Given the description of an element on the screen output the (x, y) to click on. 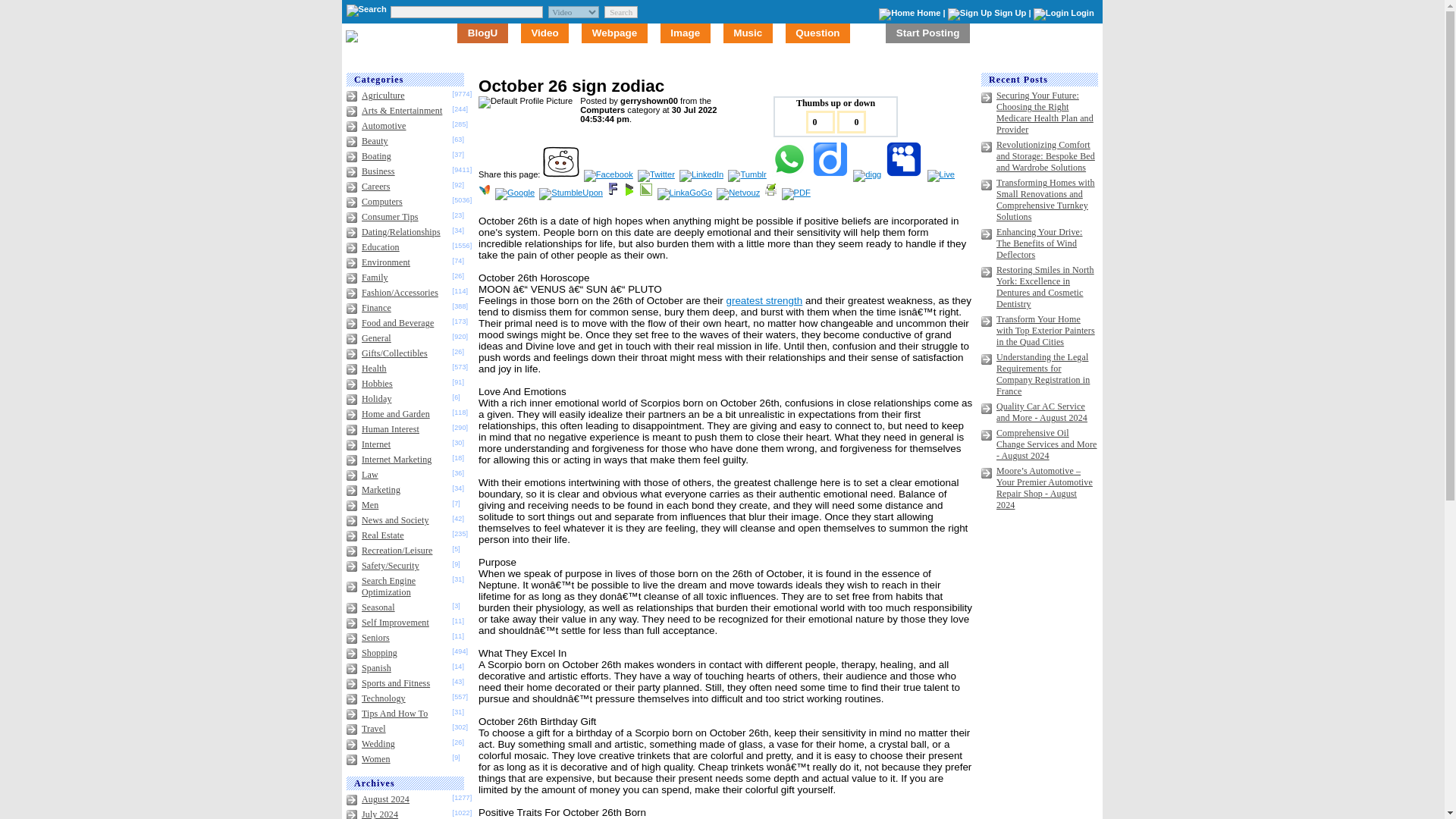
LinkArena (646, 192)
LinkaGoGo (686, 192)
Search (620, 11)
digg (868, 174)
Thumbs up (819, 121)
Sign Up (1010, 12)
Reddit (561, 174)
Live (942, 174)
Diigo (831, 174)
blogmarks (630, 192)
